Given the description of an element on the screen output the (x, y) to click on. 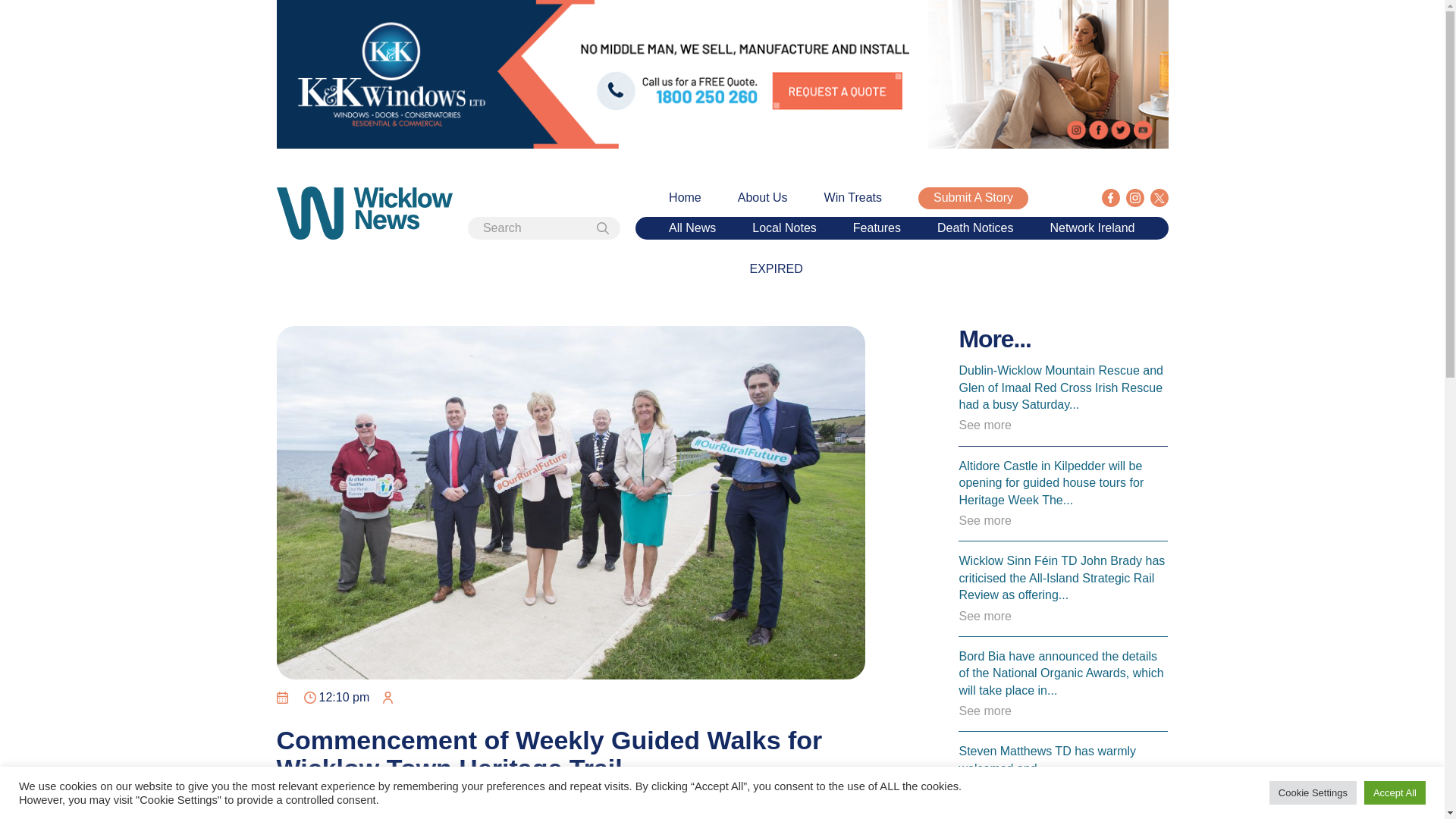
Submit A Story (972, 197)
About Us (762, 197)
Home (684, 197)
Features (876, 228)
Local Notes (783, 228)
Win Treats (853, 197)
All News (691, 228)
Network Ireland (1091, 228)
Death Notices (975, 228)
